Given the description of an element on the screen output the (x, y) to click on. 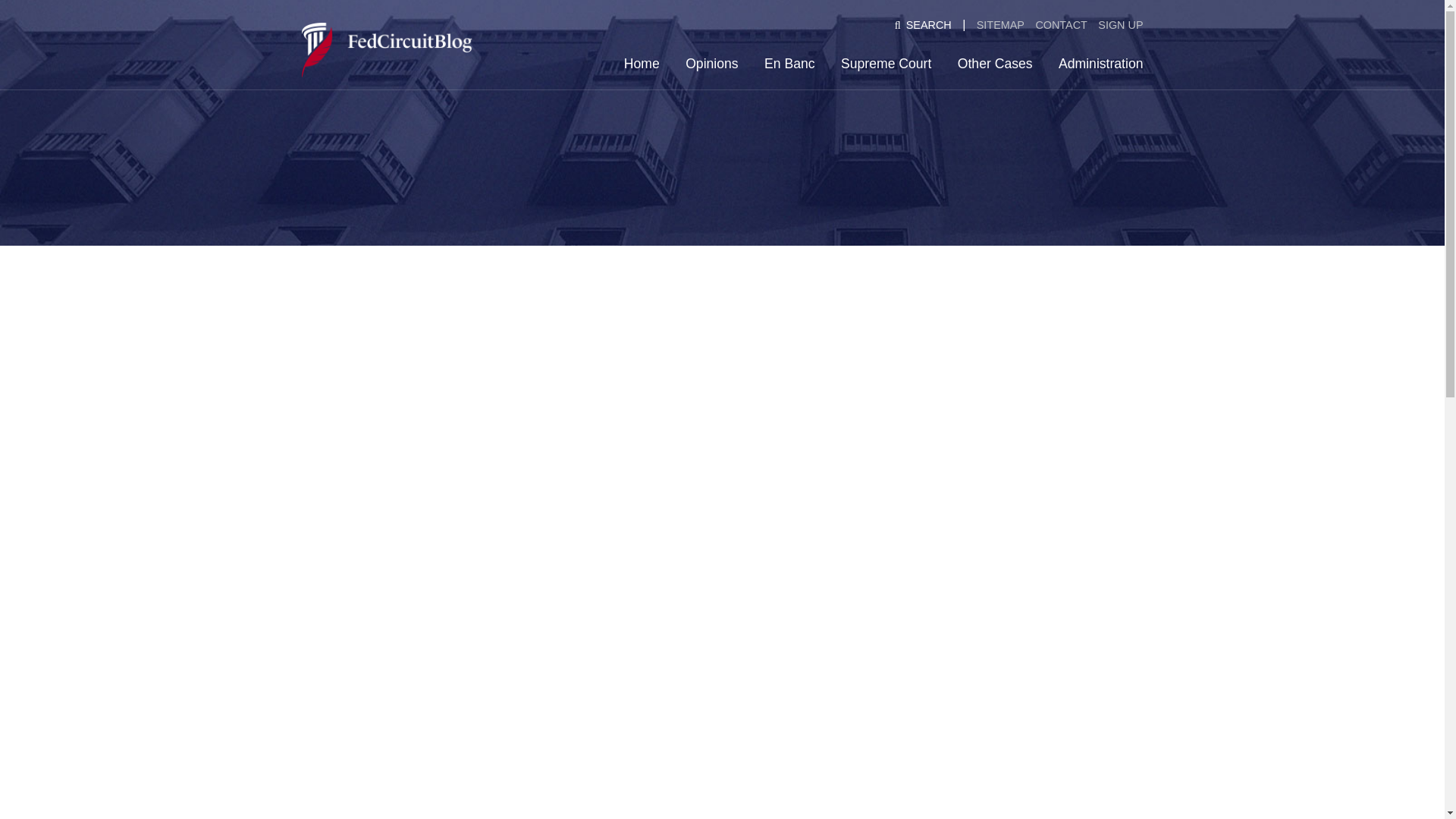
Administration (1100, 63)
SIGN UP (1120, 25)
CONTACT (1060, 25)
En Banc (789, 63)
SITEMAP (999, 25)
Supreme Court (886, 63)
Other Cases (995, 63)
Opinions (711, 63)
SEARCH (923, 25)
